Given the description of an element on the screen output the (x, y) to click on. 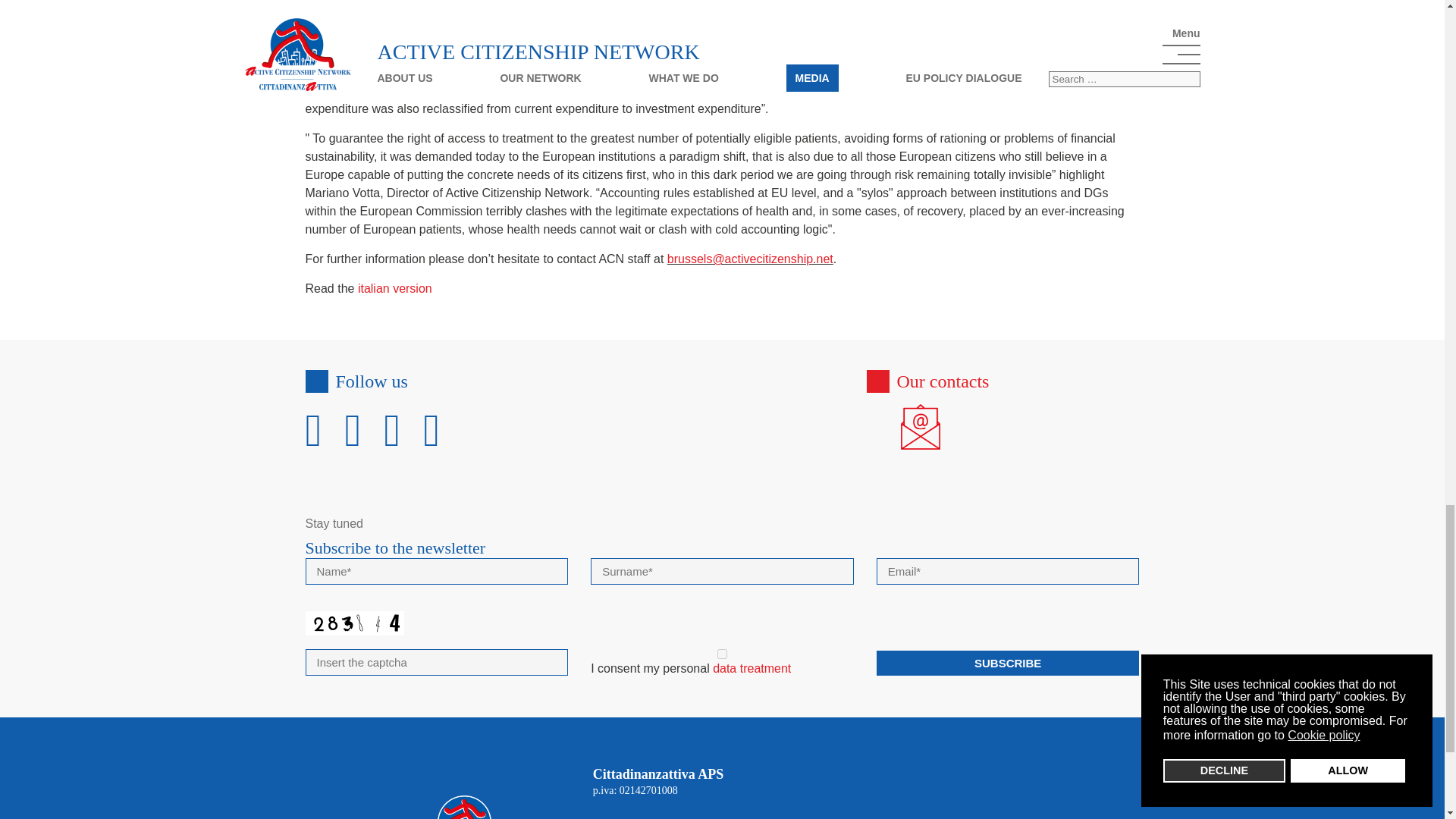
trattamento-dati-ok (722, 654)
